Given the description of an element on the screen output the (x, y) to click on. 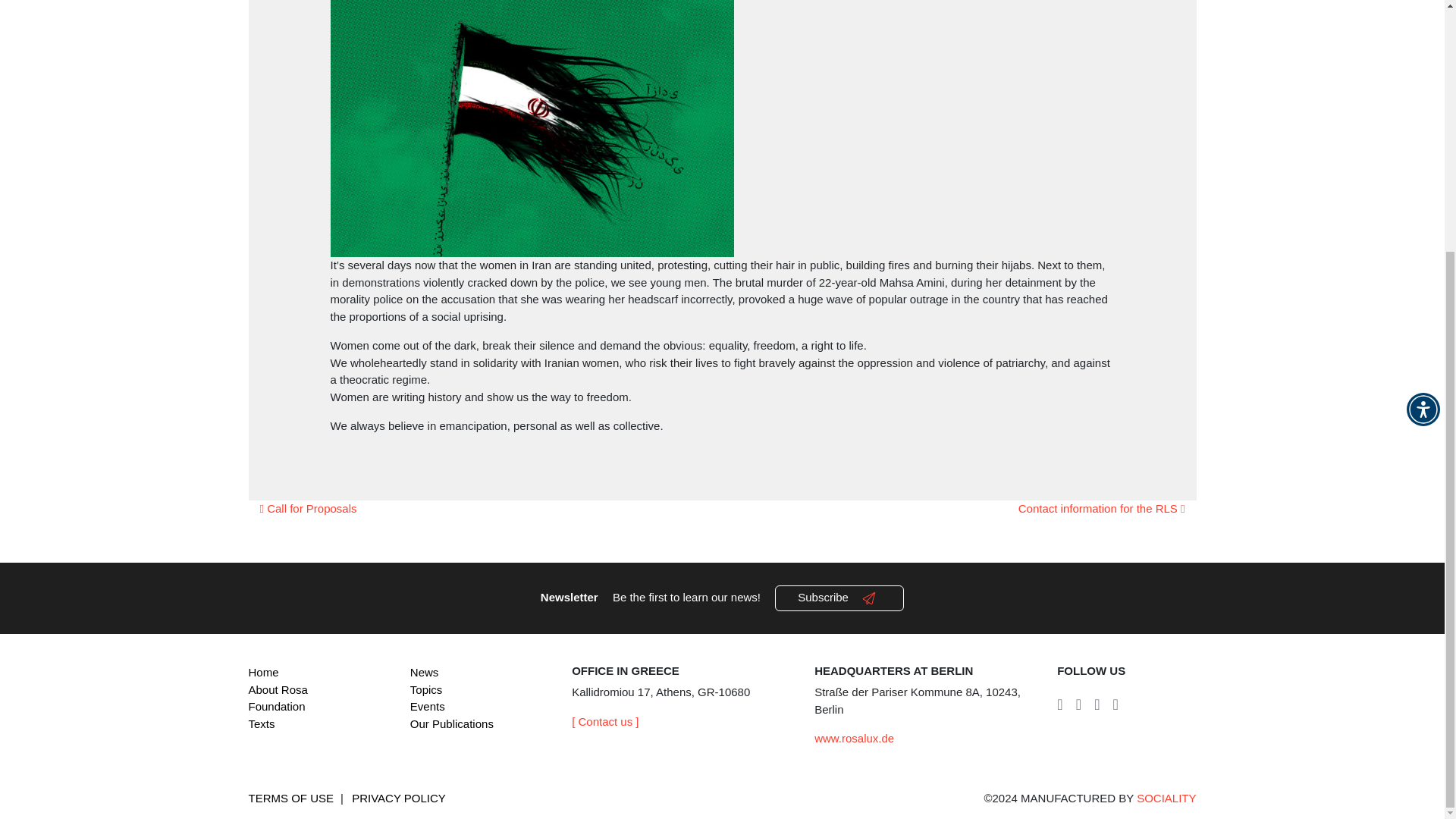
SOCIALITY (1166, 797)
Topics (426, 689)
www.rosalux.de (853, 738)
TERMS OF USE (291, 797)
Contact information for the RLS  (1101, 508)
News (424, 671)
Foundation (276, 706)
Accessibility Menu (1422, 55)
About Rosa (277, 689)
Events (427, 706)
Our Publications (451, 723)
Subscribe (839, 597)
PRIVACY POLICY (398, 797)
 Call for Proposals (307, 508)
Texts (261, 723)
